Given the description of an element on the screen output the (x, y) to click on. 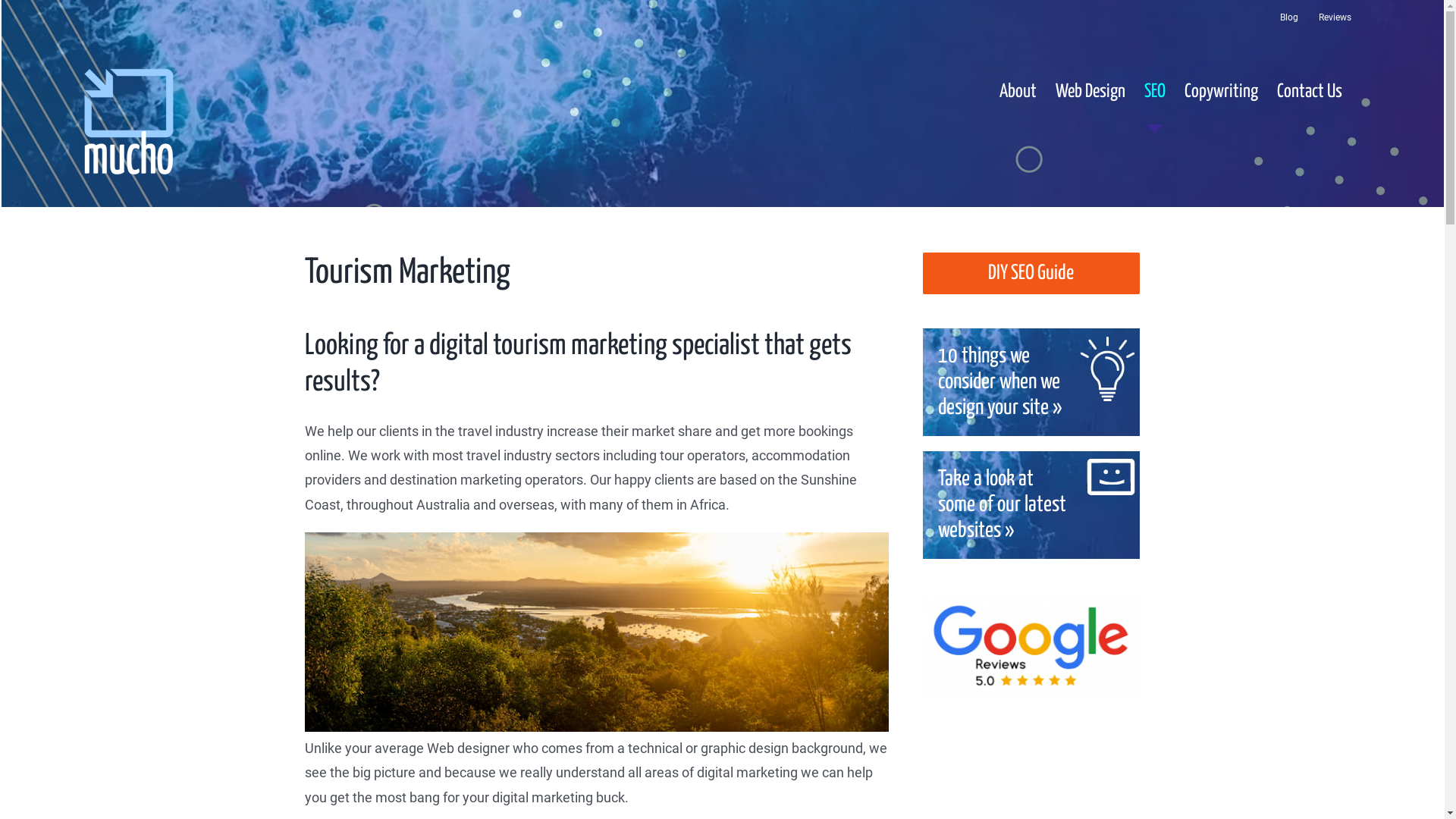
DIY SEO Guide Element type: text (1030, 273)
Blog Element type: text (1289, 18)
About Element type: text (1017, 91)
Web Design Element type: text (1090, 91)
Reviews Element type: text (1334, 18)
Contact Us Element type: text (1309, 91)
Copywriting Element type: text (1221, 91)
Noosa Tourism Marketing Element type: hover (596, 631)
SEO Element type: text (1154, 91)
